Given the description of an element on the screen output the (x, y) to click on. 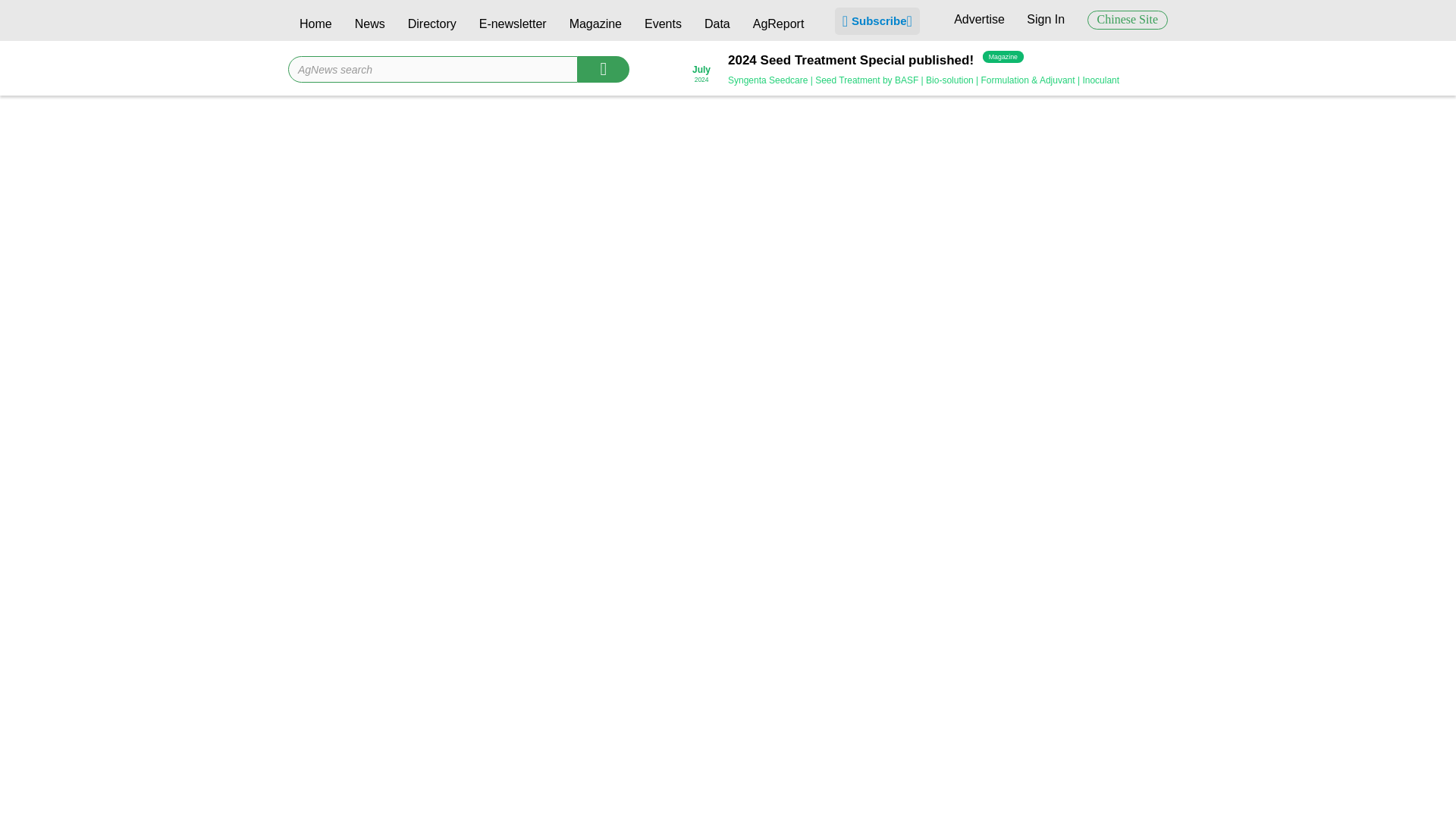
2024 Seed Treatment Special published! (851, 60)
E-newsletter (512, 25)
Advertise (978, 19)
AgReport (778, 25)
Home (315, 25)
Chinese Site (1127, 19)
News (369, 25)
Events (663, 25)
Data (717, 25)
Directory (431, 25)
Magazine (595, 25)
